Given the description of an element on the screen output the (x, y) to click on. 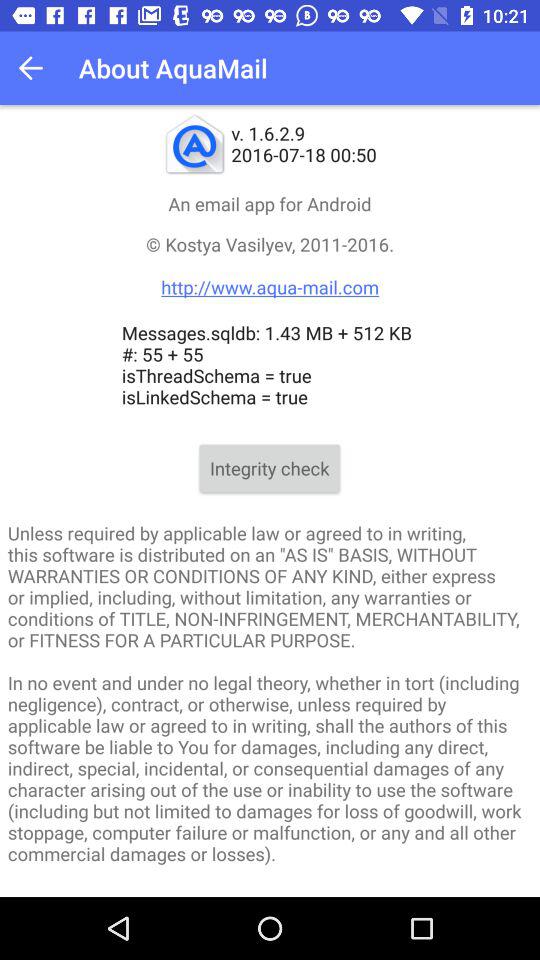
select icon next to the about aquamail app (36, 68)
